Given the description of an element on the screen output the (x, y) to click on. 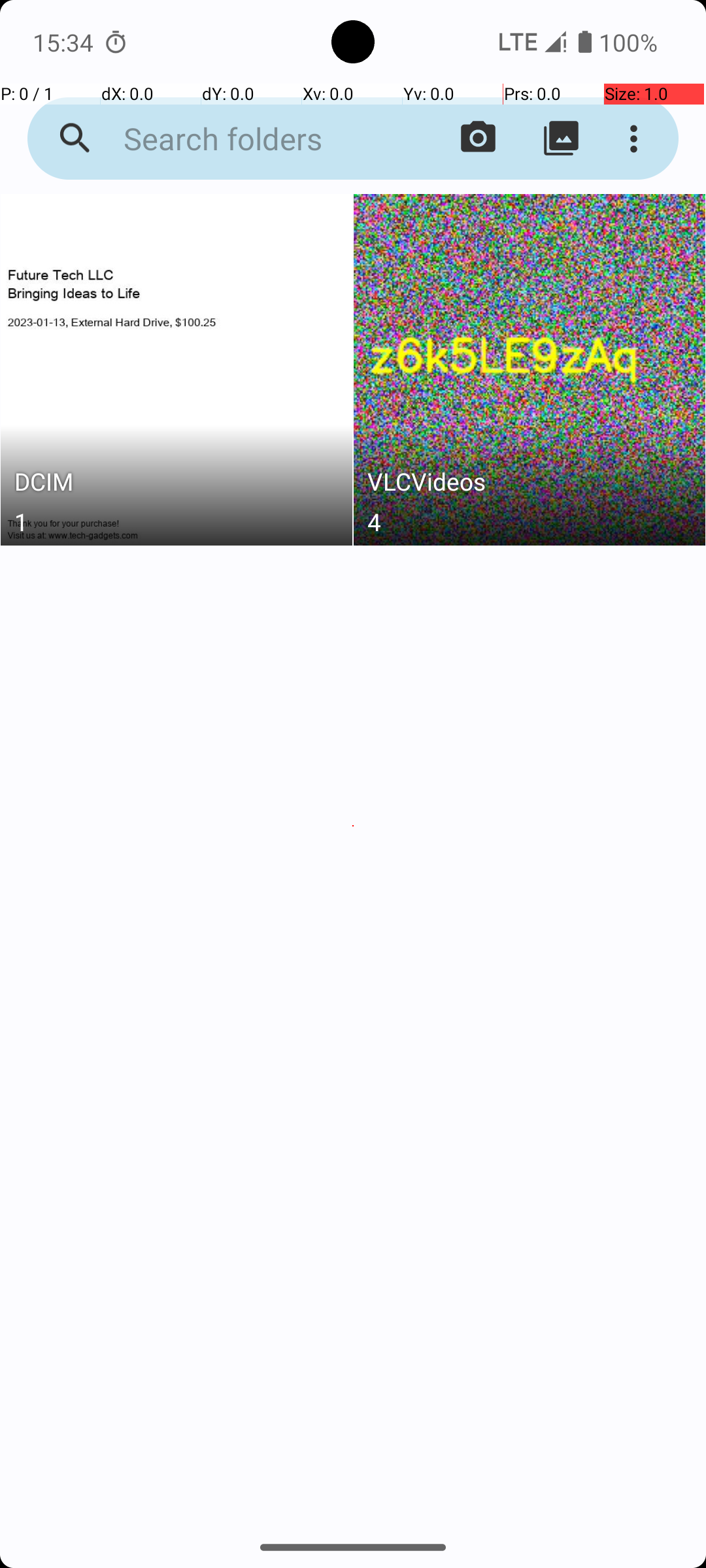
Open camera Element type: android.widget.Button (477, 138)
Show all folders content Element type: android.widget.Button (560, 138)
VLCVideos Element type: android.widget.TextView (529, 484)
